Given the description of an element on the screen output the (x, y) to click on. 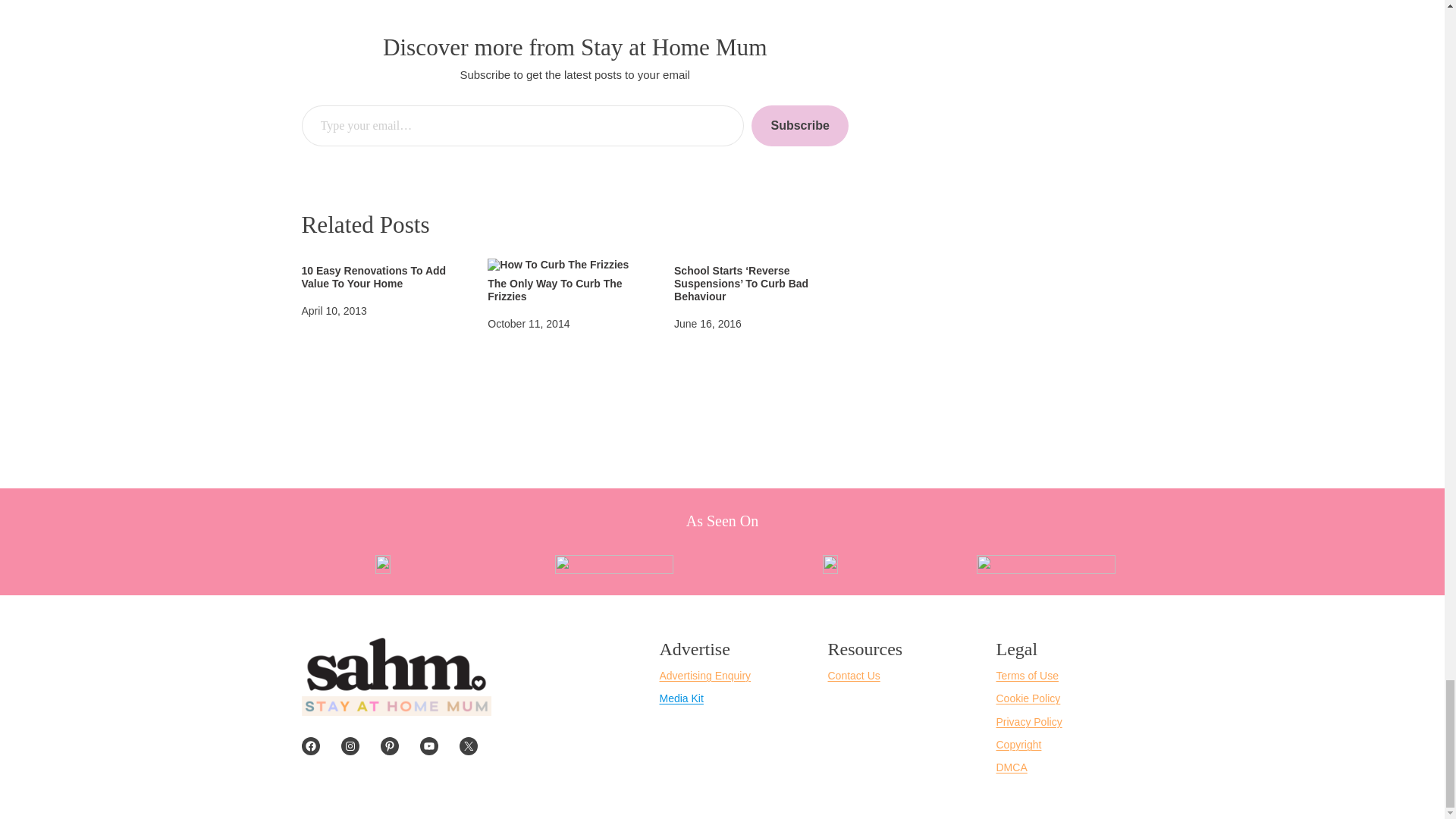
Please fill in this field. (522, 126)
